Given the description of an element on the screen output the (x, y) to click on. 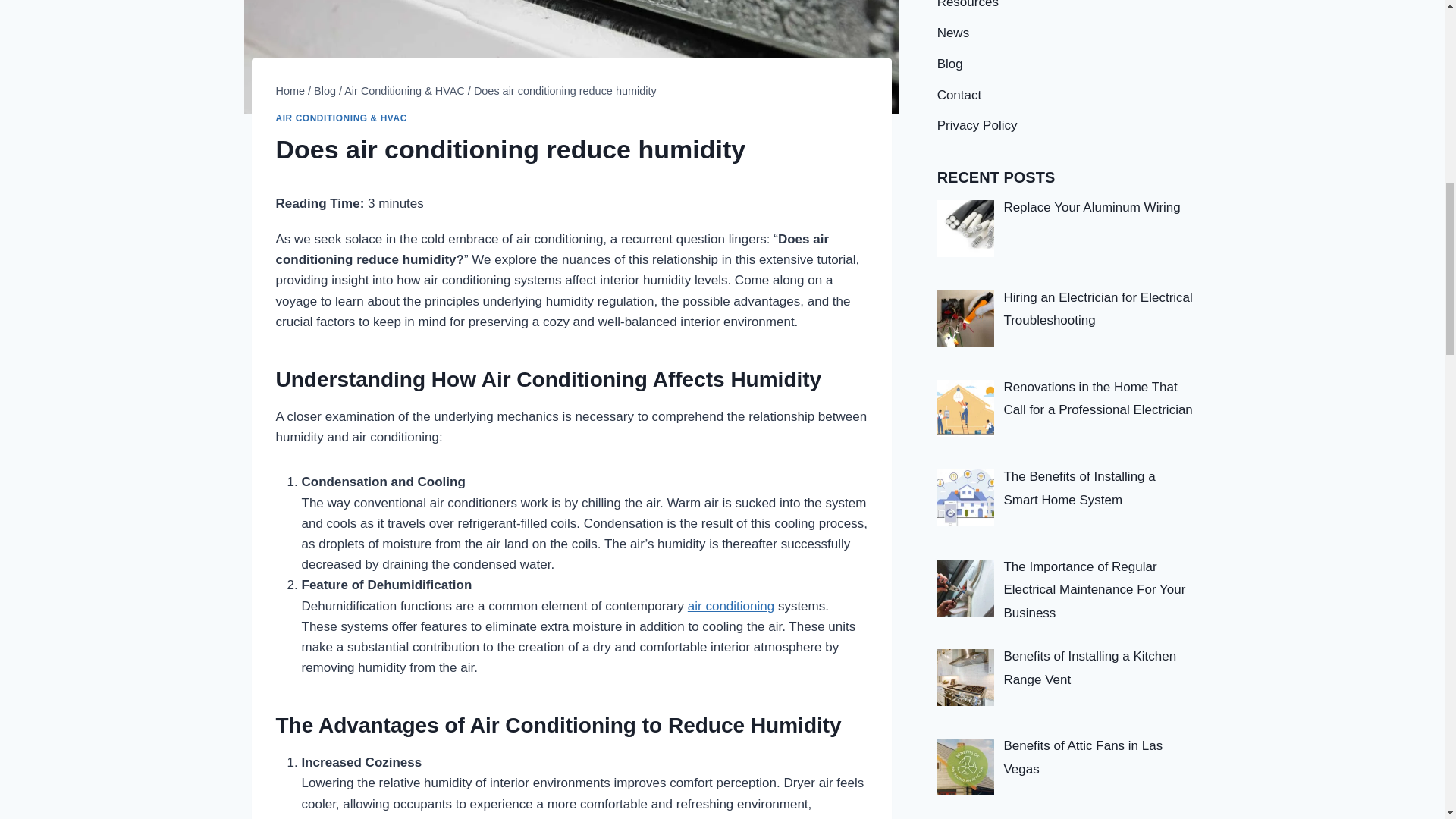
air conditioning (730, 605)
Blog (325, 91)
Home (290, 91)
